Given the description of an element on the screen output the (x, y) to click on. 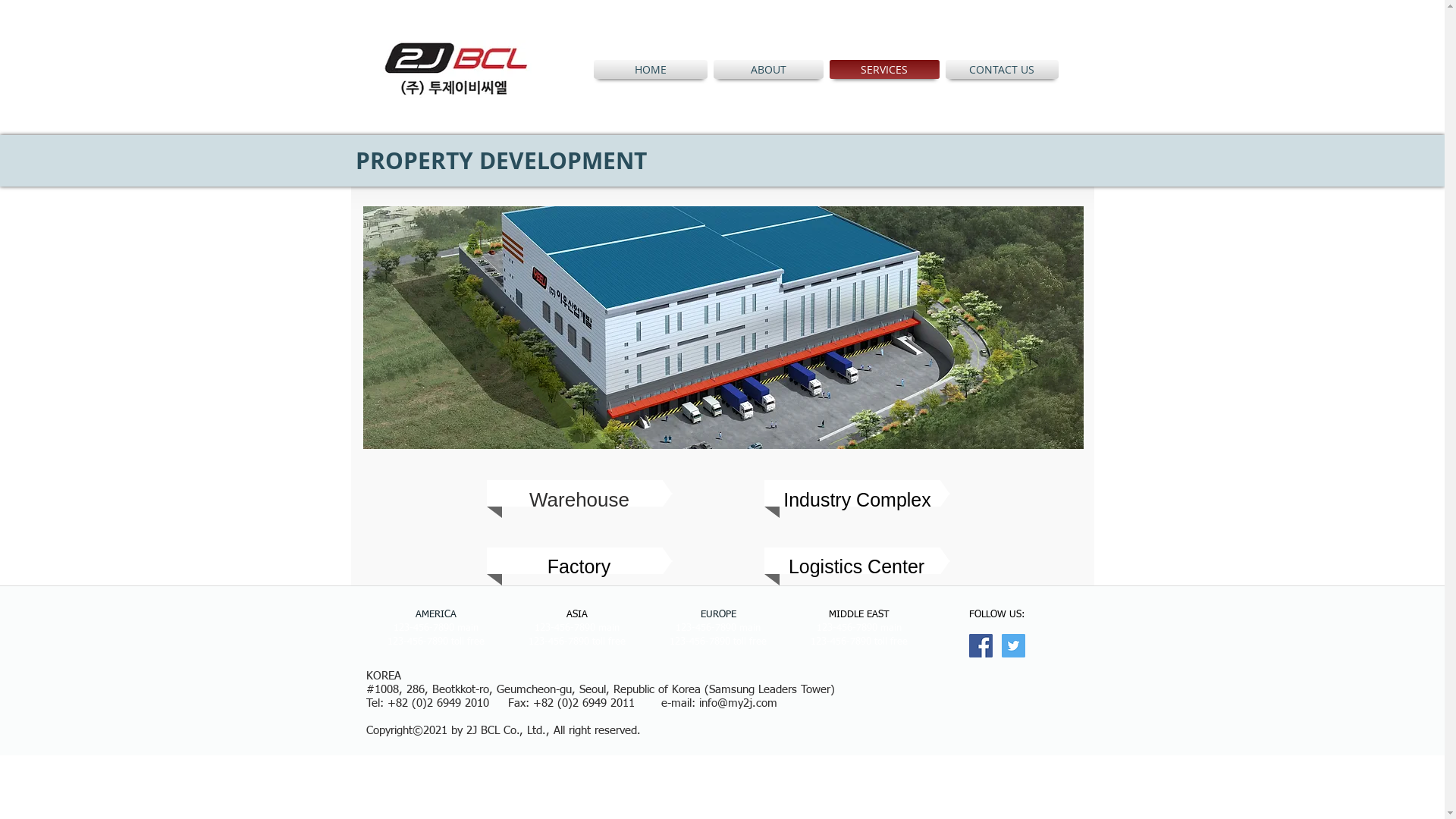
SERVICES Element type: text (884, 68)
HOME Element type: text (651, 68)
ABOUT Element type: text (767, 68)
CONTACT US Element type: text (999, 68)
info@my2j.com Element type: text (738, 703)
